Given the description of an element on the screen output the (x, y) to click on. 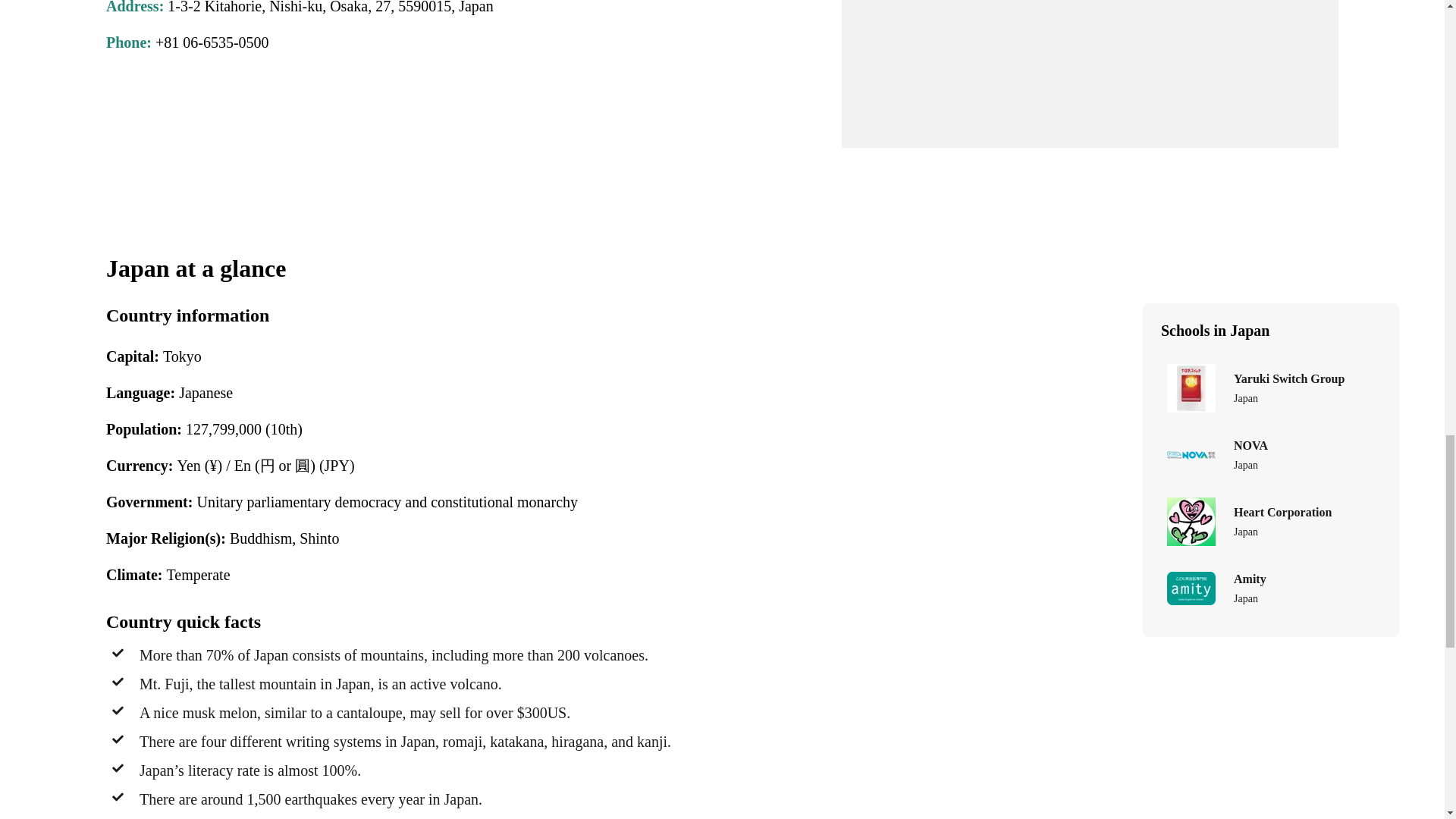
Checkmark Small Icon (117, 653)
Checkmark Small Icon (117, 710)
Checkmark Small Icon (117, 681)
Checkmark Small Icon (117, 739)
Checkmark Small Icon (117, 797)
Checkmark Small Icon (117, 767)
School map (1089, 74)
